Given the description of an element on the screen output the (x, y) to click on. 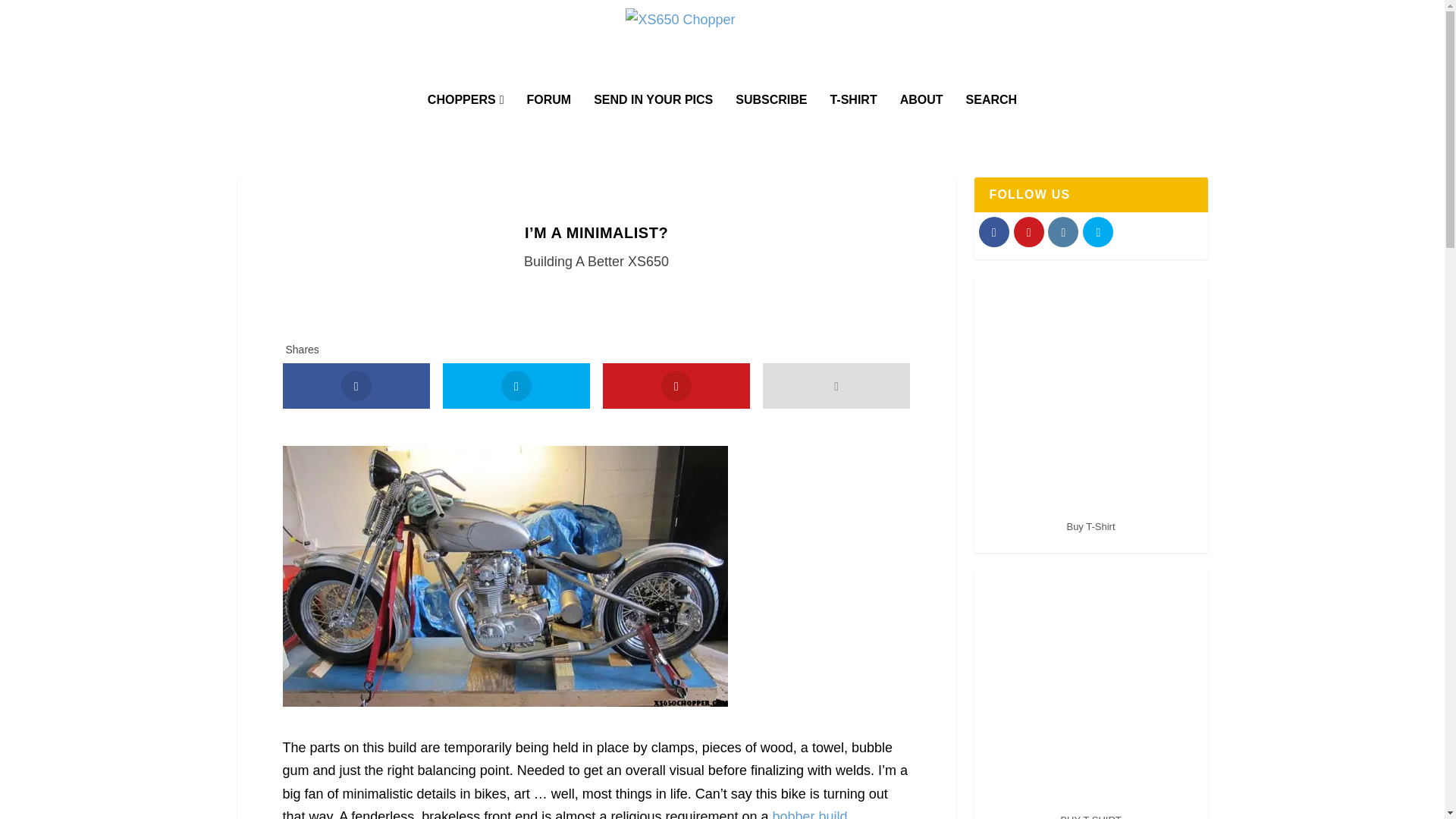
SUBSCRIBE (770, 120)
SEND IN YOUR PICS. (653, 120)
SEND IN YOUR PICS (653, 120)
Building A Better XS650 (596, 261)
bobber build (810, 814)
SEARCH (991, 120)
CHOPPERS (465, 120)
